Given the description of an element on the screen output the (x, y) to click on. 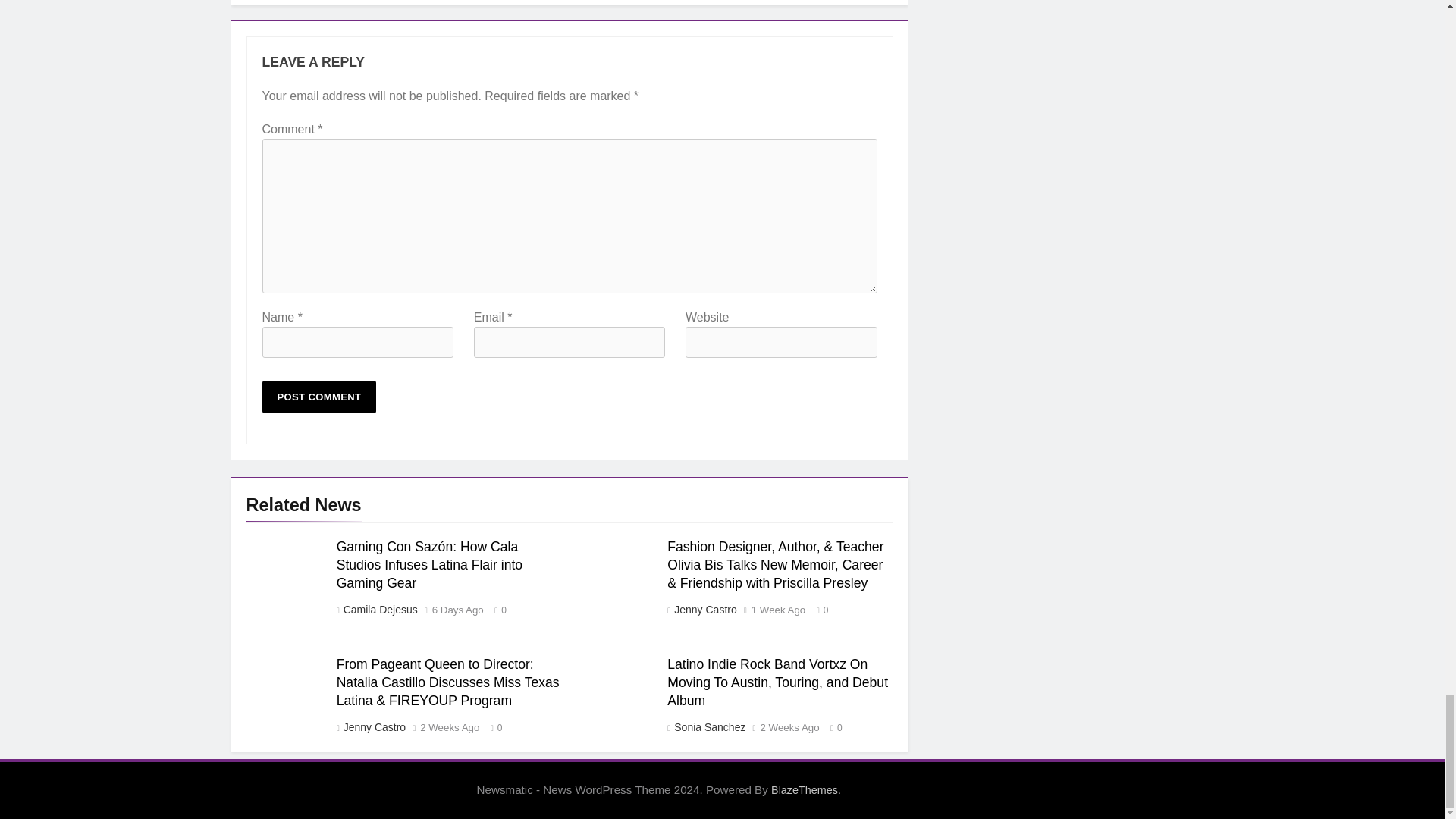
Post Comment (319, 396)
